Given the description of an element on the screen output the (x, y) to click on. 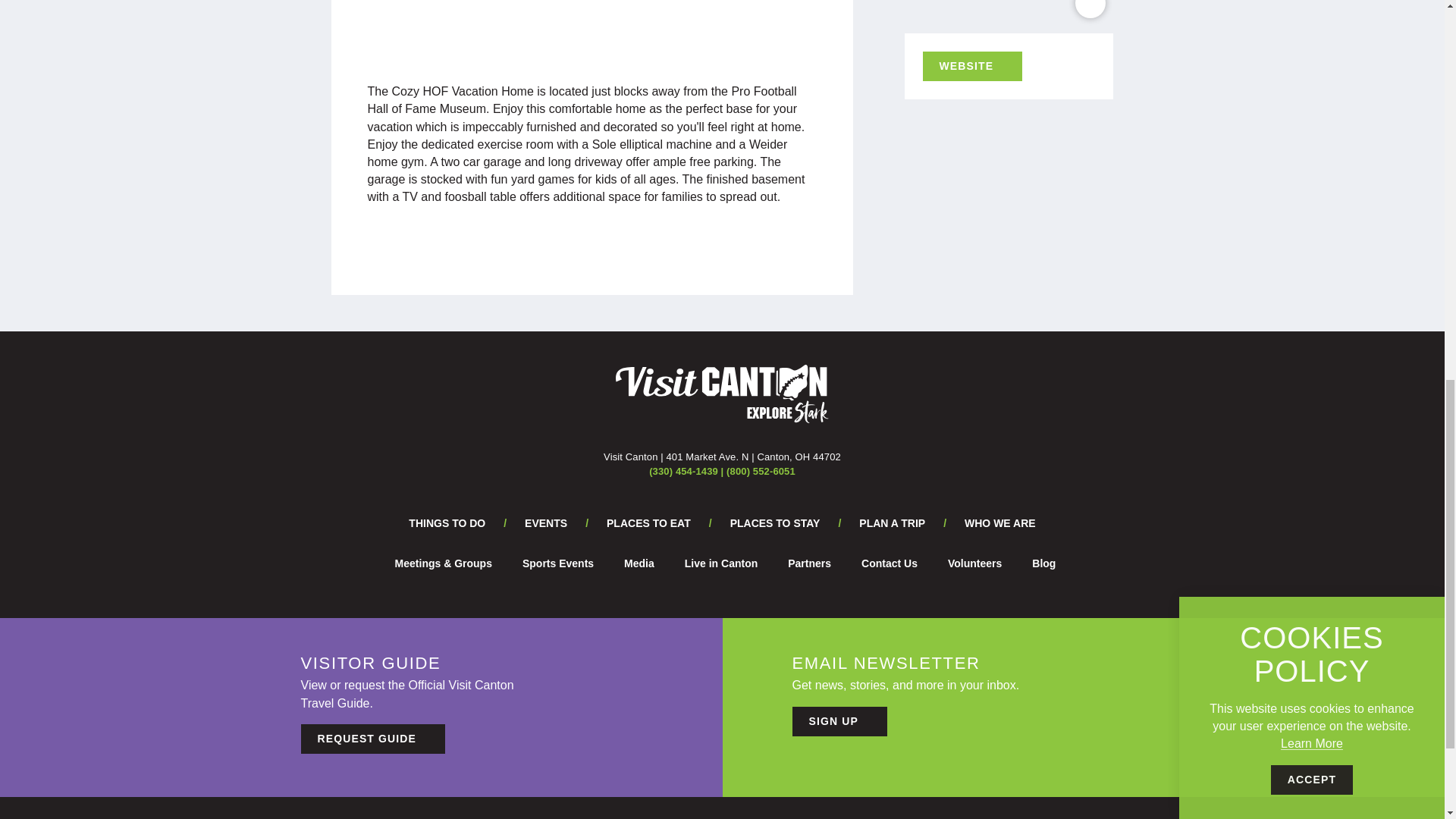
THINGS TO DO (446, 522)
WEBSITE (971, 66)
Amenities (618, 22)
EVENTS (545, 522)
Overview (544, 22)
